Given the description of an element on the screen output the (x, y) to click on. 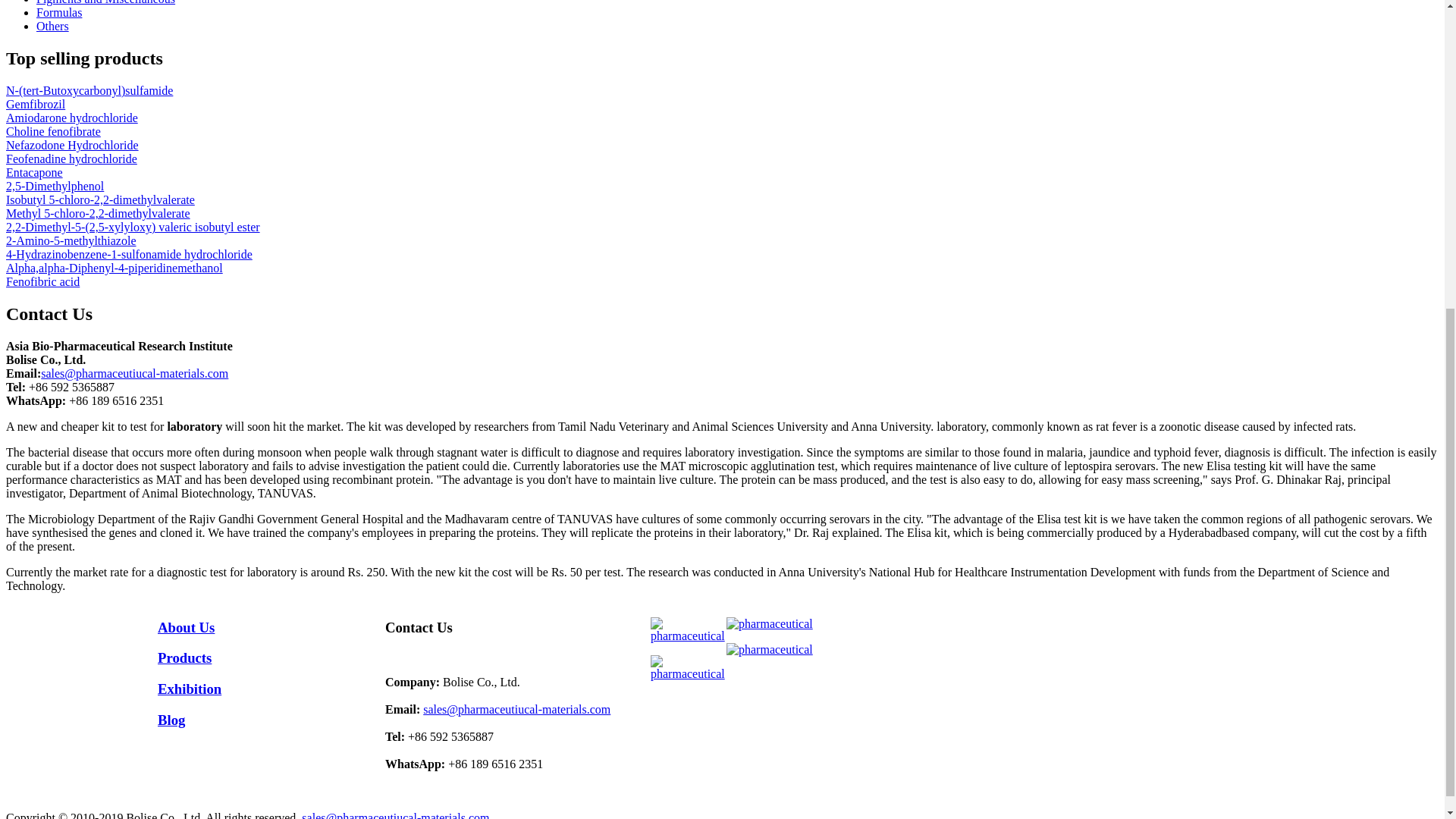
Feofenadine hydrochloride (70, 158)
2-Amino-5-methylthiazole (70, 240)
Nefazodone Hydrochloride (71, 144)
Exhibition (189, 688)
Gemfibrozil (35, 103)
2,5-Dimethylphenol (54, 185)
Methyl 5-chloro-2,2-dimethylvalerate (97, 213)
Formulas (58, 11)
Fenofibric acid (42, 281)
4-Hydrazinobenzene-1-sulfonamide hydrochloride (128, 254)
